Given the description of an element on the screen output the (x, y) to click on. 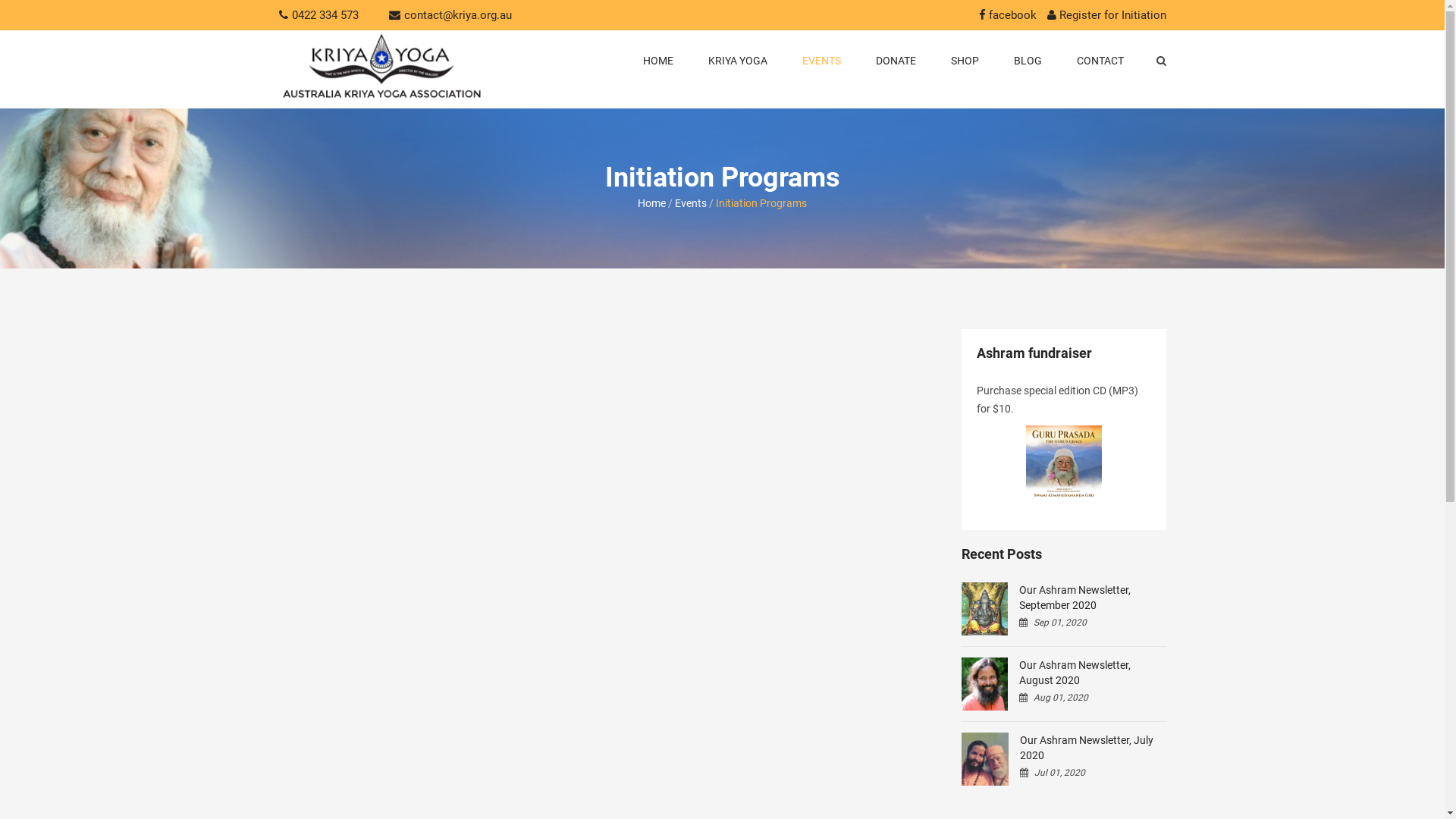
contact@kriya.org.au Element type: text (457, 14)
Register for Initiation Element type: text (1105, 14)
BLOG Element type: text (1027, 60)
EVENTS Element type: text (820, 60)
Our Ashram Newsletter, July 2020 Element type: text (1063, 747)
facebook Element type: text (1006, 14)
DONATE Element type: text (895, 60)
SHOP Element type: text (963, 60)
HOME Element type: text (657, 60)
Our Ashram Newsletter, August 2020 Element type: text (1063, 672)
Events Element type: text (690, 203)
Our Ashram Newsletter, September 2020 Element type: text (1063, 597)
CONTACT Element type: text (1099, 60)
Home Element type: text (651, 203)
KRIYA YOGA Element type: text (737, 60)
